Given the description of an element on the screen output the (x, y) to click on. 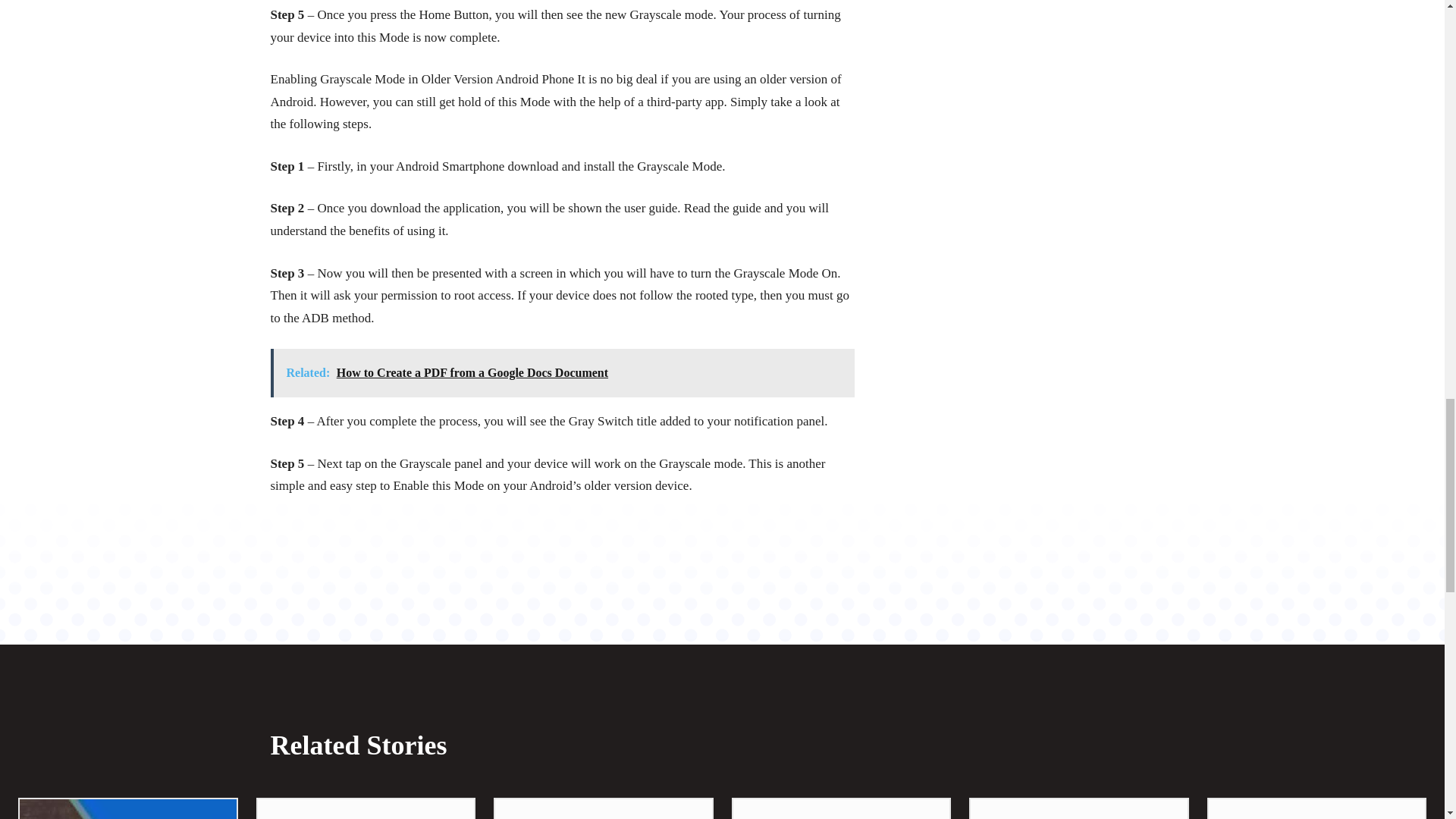
Related:  How to Create a PDF from a Google Docs Document (561, 372)
What Are the Best-Gamified Smartphone Apps for Weight Loss? (127, 809)
Should You Wear a Smartwatch To Sleep? Is It Safe? (603, 809)
